Given the description of an element on the screen output the (x, y) to click on. 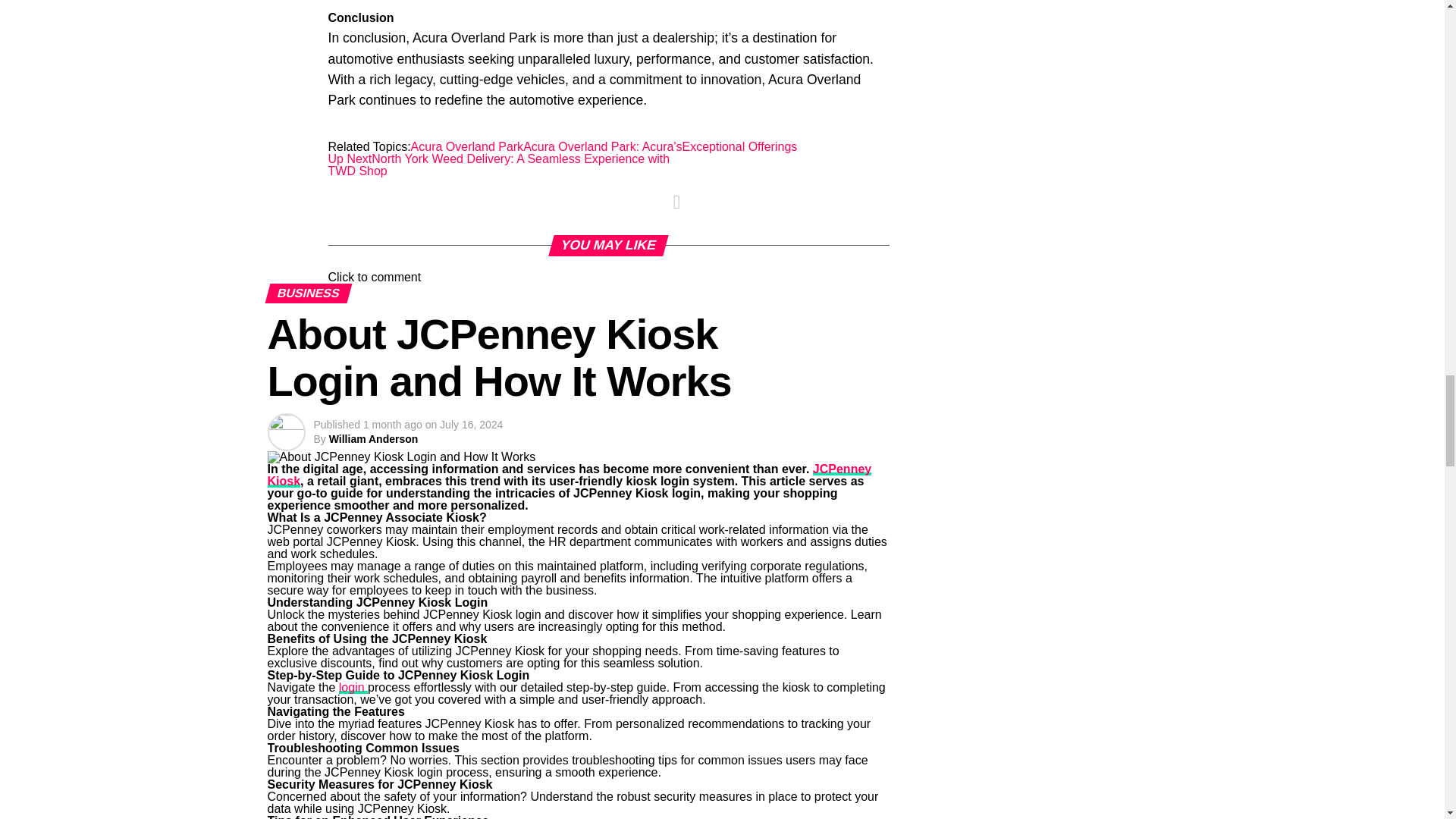
Exceptional Offerings (739, 146)
Posts by William Anderson (374, 439)
Acura Overland Park (467, 146)
Acura Overland Park: Acura's (601, 146)
JCPenney Kiosk (568, 474)
William Anderson (374, 439)
login (353, 686)
